Given the description of an element on the screen output the (x, y) to click on. 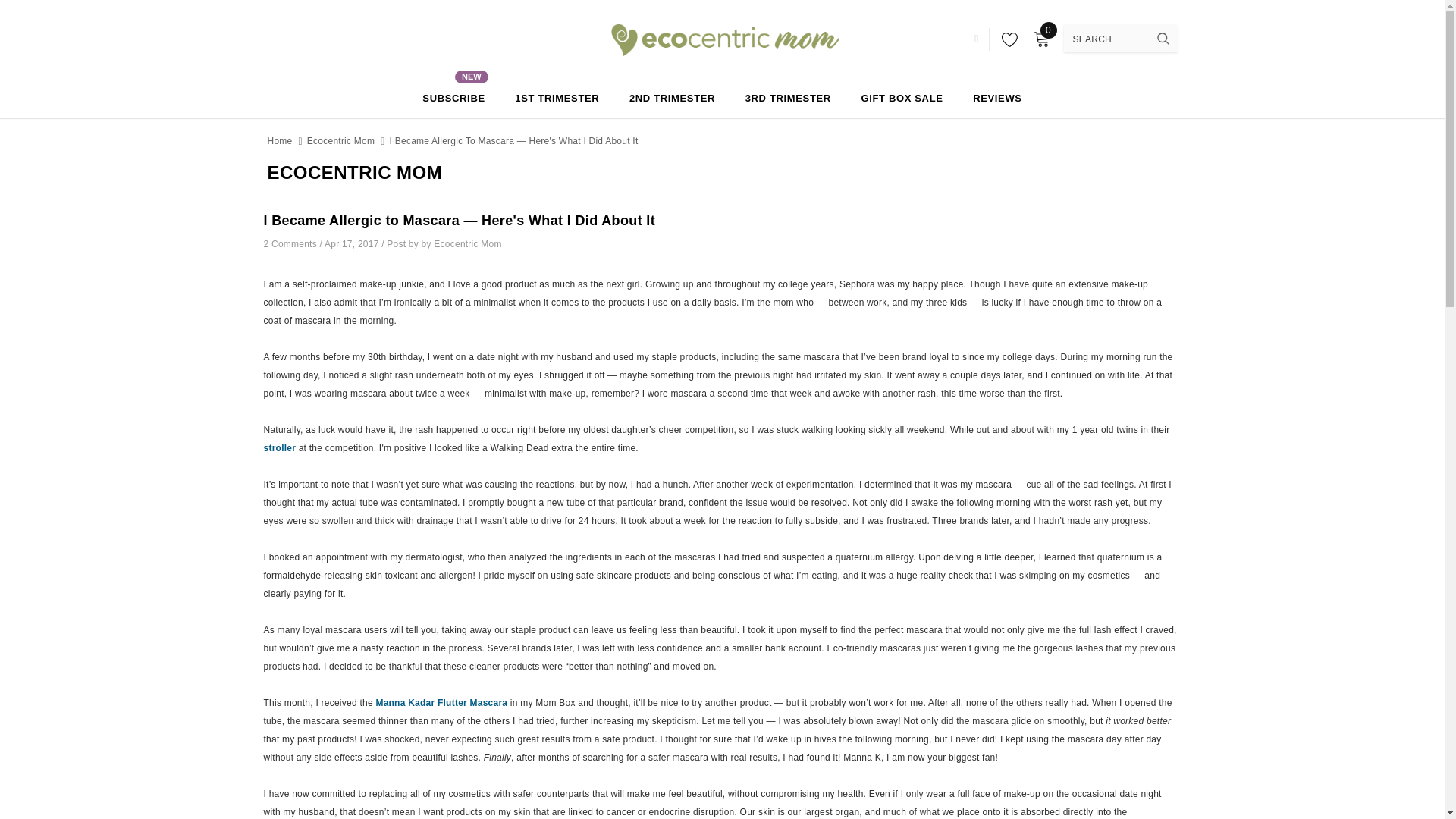
2ND TRIMESTER (453, 96)
SIGN IN (671, 96)
Cart Icon (956, 39)
1ST TRIMESTER (1040, 39)
0 (556, 96)
My Wishlists (1040, 39)
3RD TRIMESTER (1005, 39)
Logo (788, 96)
